Given the description of an element on the screen output the (x, y) to click on. 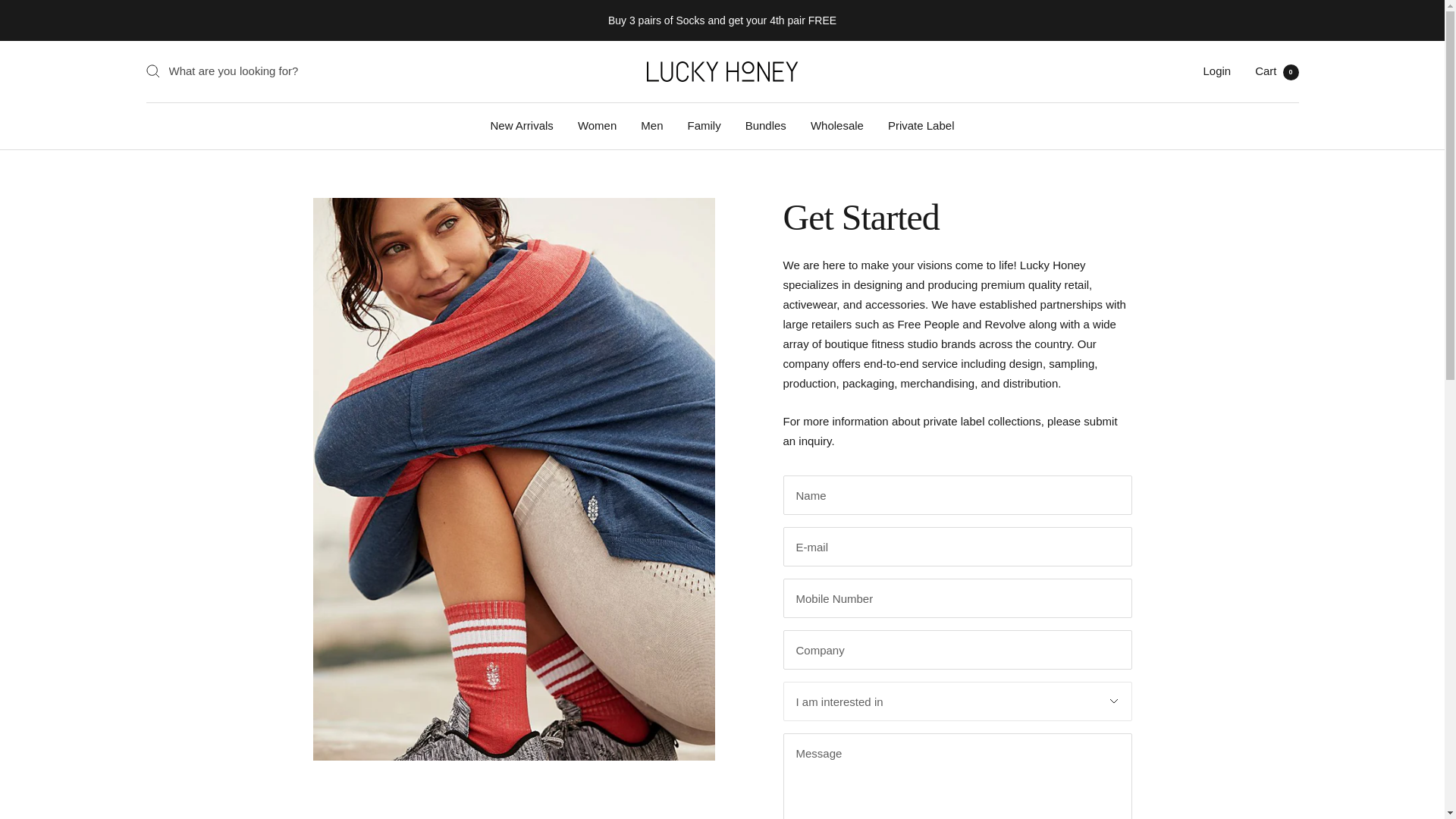
Login (1216, 70)
Private Label (921, 125)
Bundles (765, 125)
Men (651, 125)
Wholesale (836, 125)
I am interested in (957, 701)
Family (703, 125)
New Arrivals (521, 125)
Lucky Honey (1276, 70)
